Given the description of an element on the screen output the (x, y) to click on. 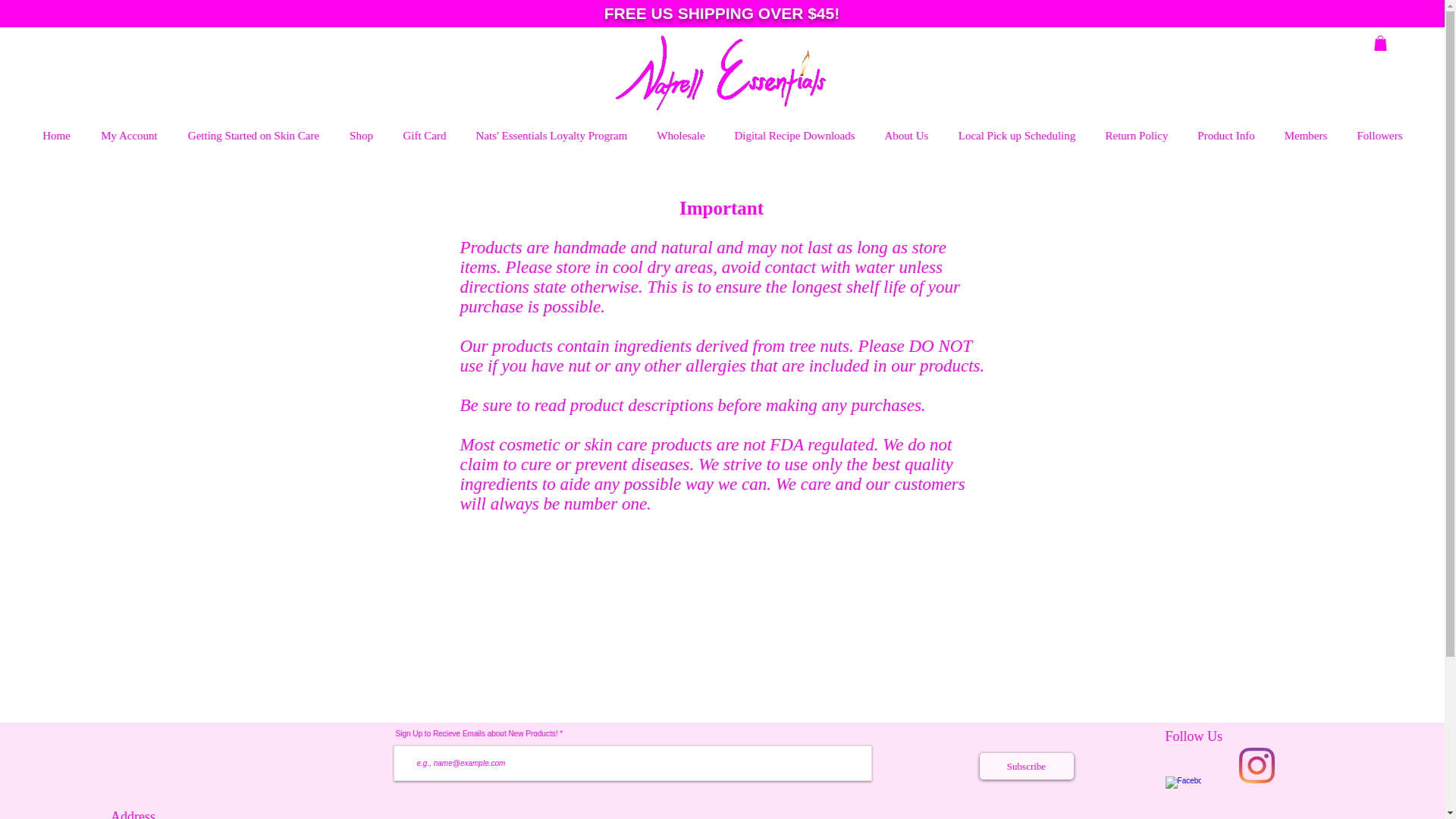
Nats' Essentials Loyalty Program (551, 136)
Home (56, 136)
Gift Card (424, 136)
Followers (1379, 136)
Subscribe (1026, 765)
About Us (906, 136)
Shop (361, 136)
Local Pick up Scheduling (1016, 136)
Return Policy (1136, 136)
Product Info (1225, 136)
My Account (129, 136)
Members (1305, 136)
Digital Recipe Downloads (794, 136)
Wholesale (680, 136)
Getting Started on Skin Care (253, 136)
